Given the description of an element on the screen output the (x, y) to click on. 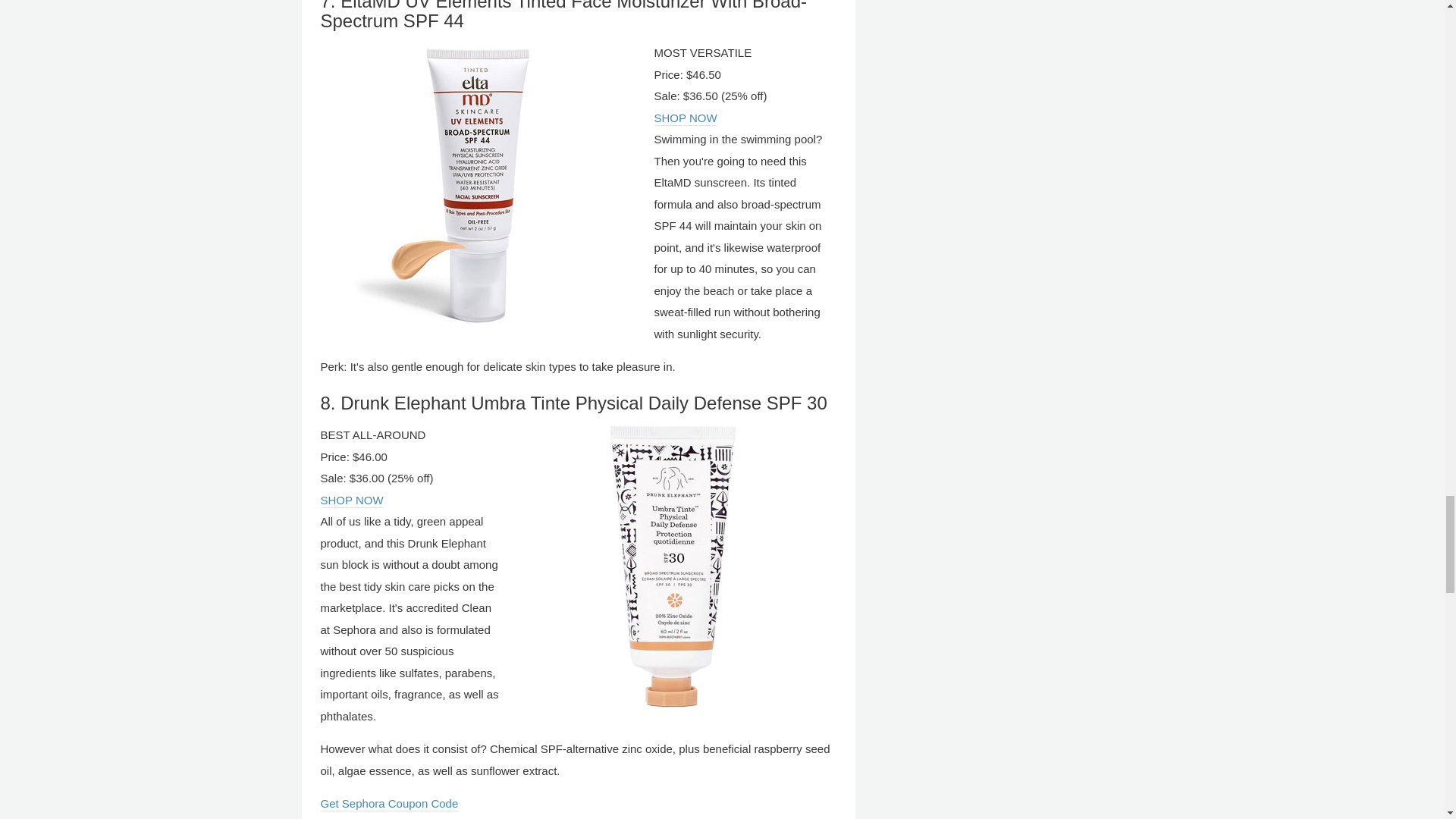
SHOP NOW (684, 118)
SHOP NOW (684, 118)
SHOP NOW (351, 500)
SHOP NOW (351, 500)
Get Sephora Coupon Code (389, 803)
